Given the description of an element on the screen output the (x, y) to click on. 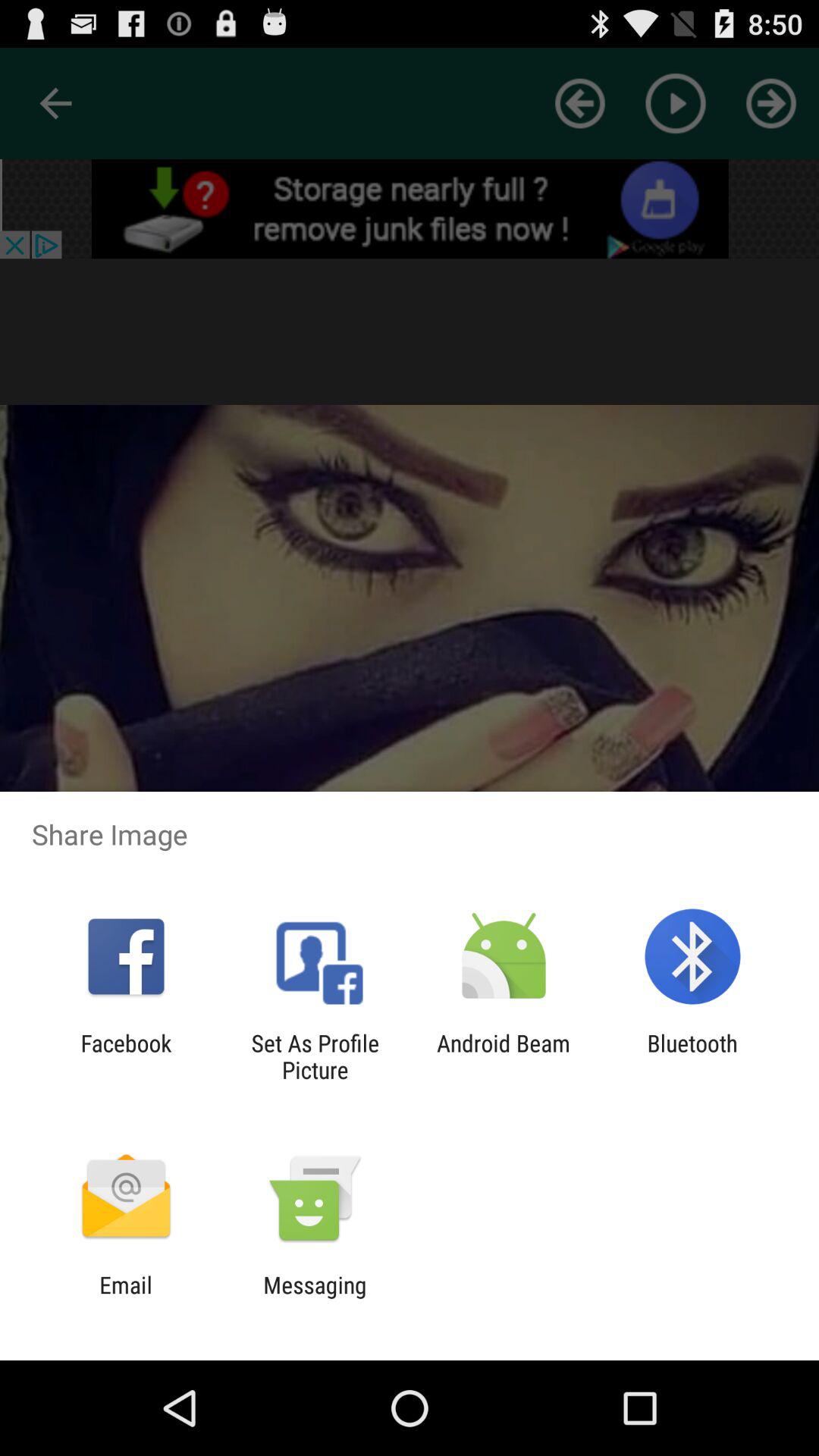
turn off app to the right of set as profile app (503, 1056)
